Given the description of an element on the screen output the (x, y) to click on. 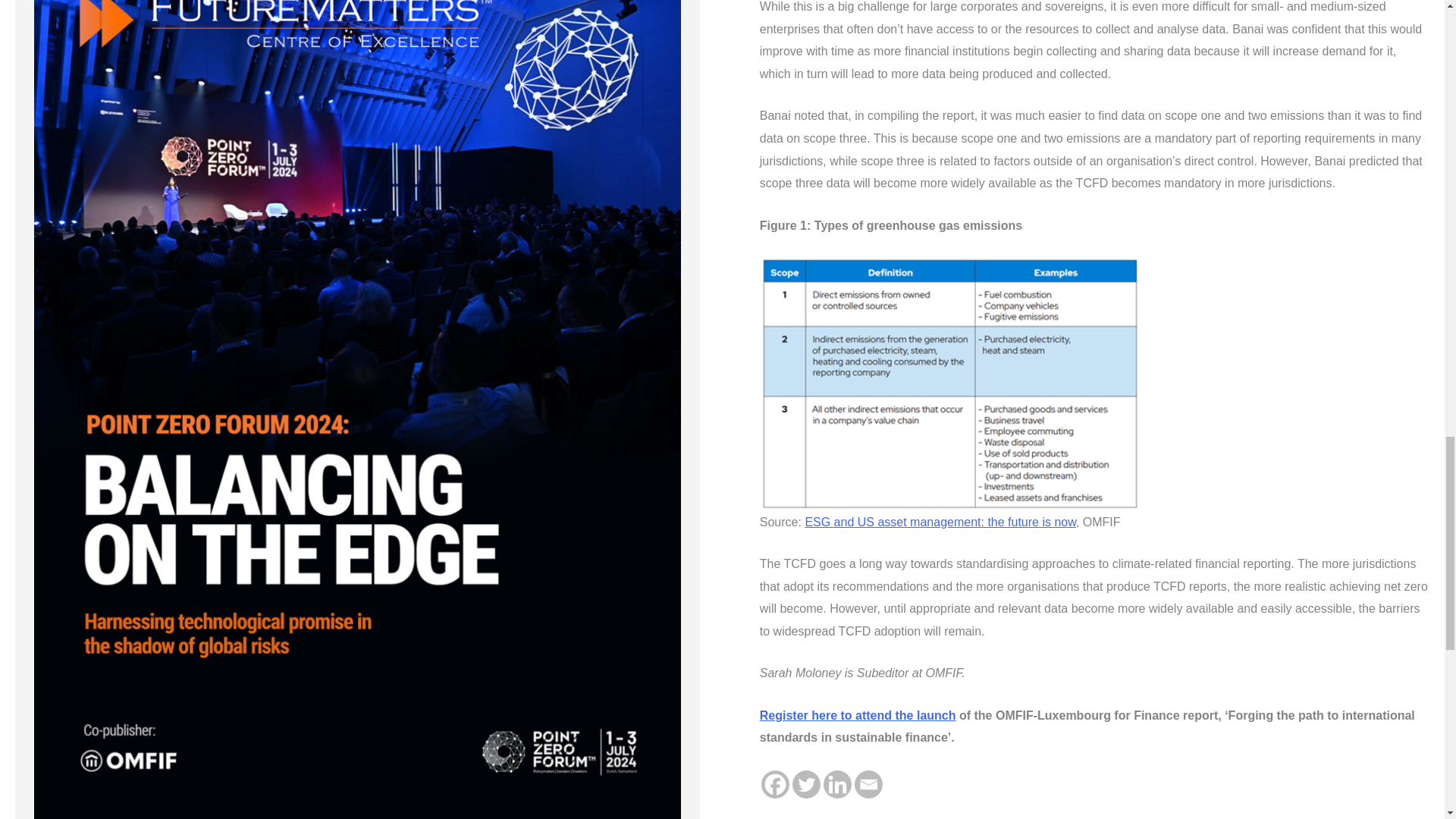
Facebook (775, 784)
Email (868, 784)
Twitter (806, 784)
Linkedin (837, 784)
